Given the description of an element on the screen output the (x, y) to click on. 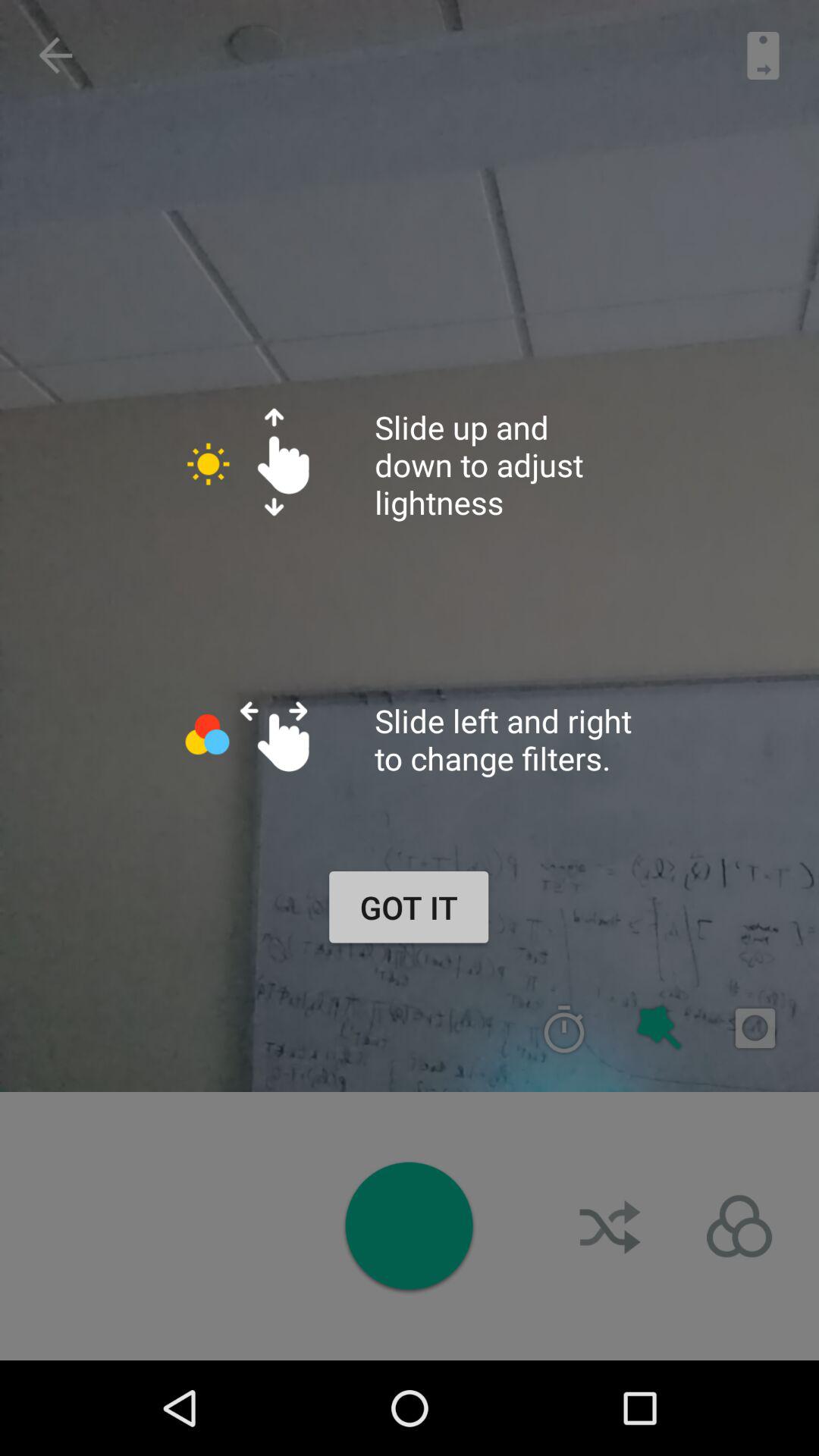
munu (739, 1226)
